Given the description of an element on the screen output the (x, y) to click on. 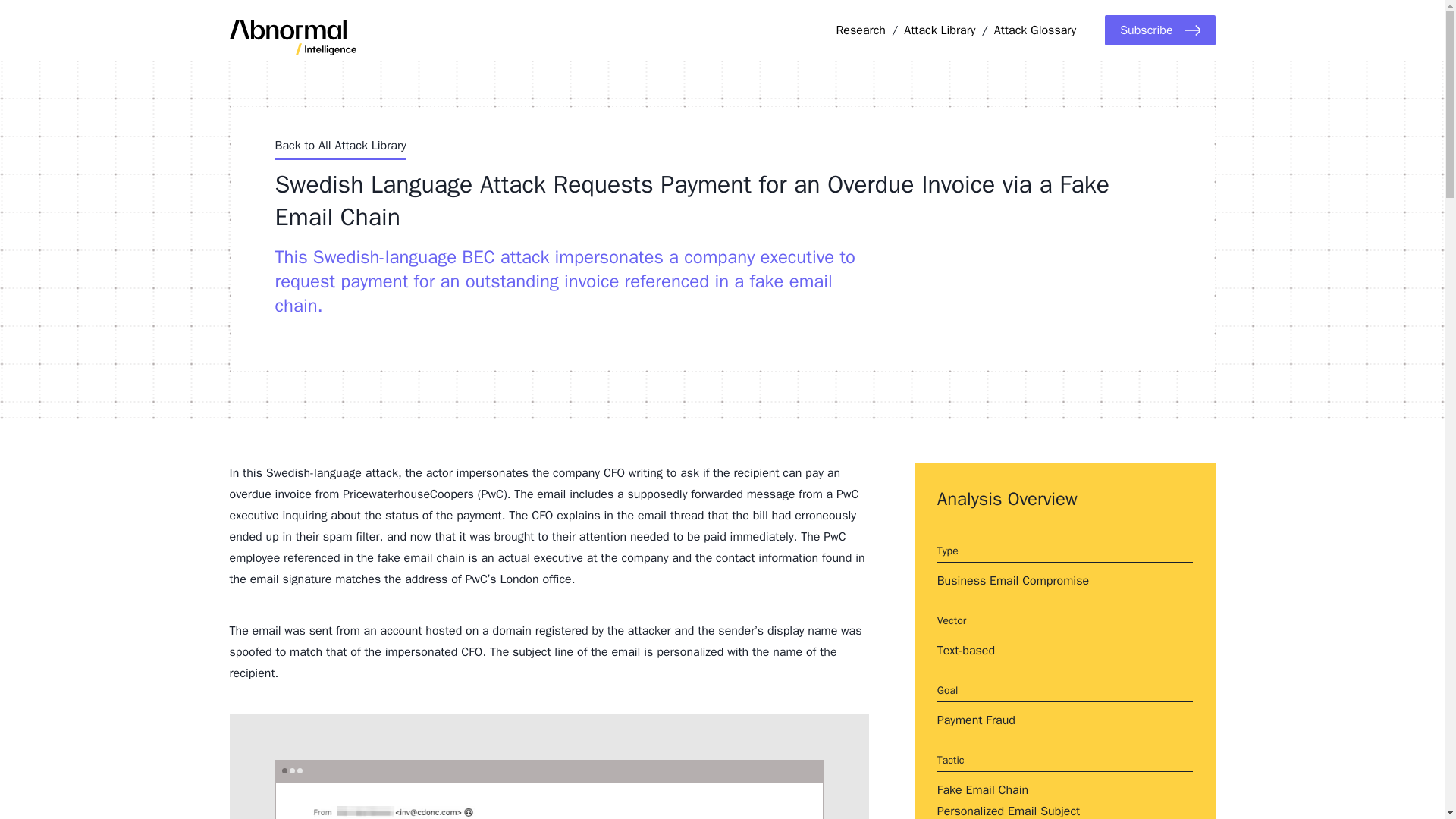
Business Email Compromise (1013, 580)
Research (860, 30)
Attack Library (939, 30)
Attack Glossary (1034, 30)
Back to All Attack Library (340, 147)
